Given the description of an element on the screen output the (x, y) to click on. 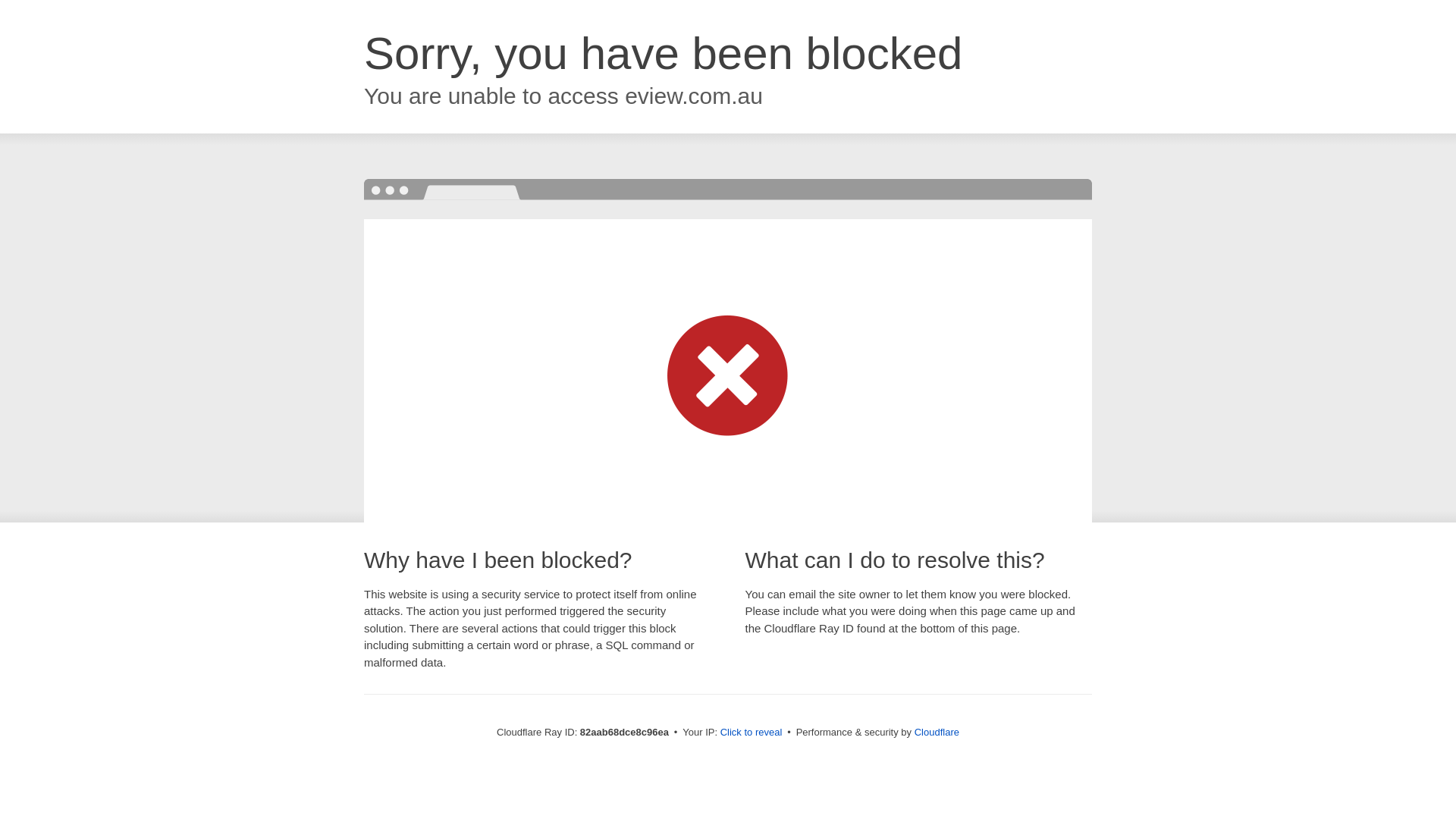
Cloudflare Element type: text (936, 731)
Click to reveal Element type: text (751, 732)
